Given the description of an element on the screen output the (x, y) to click on. 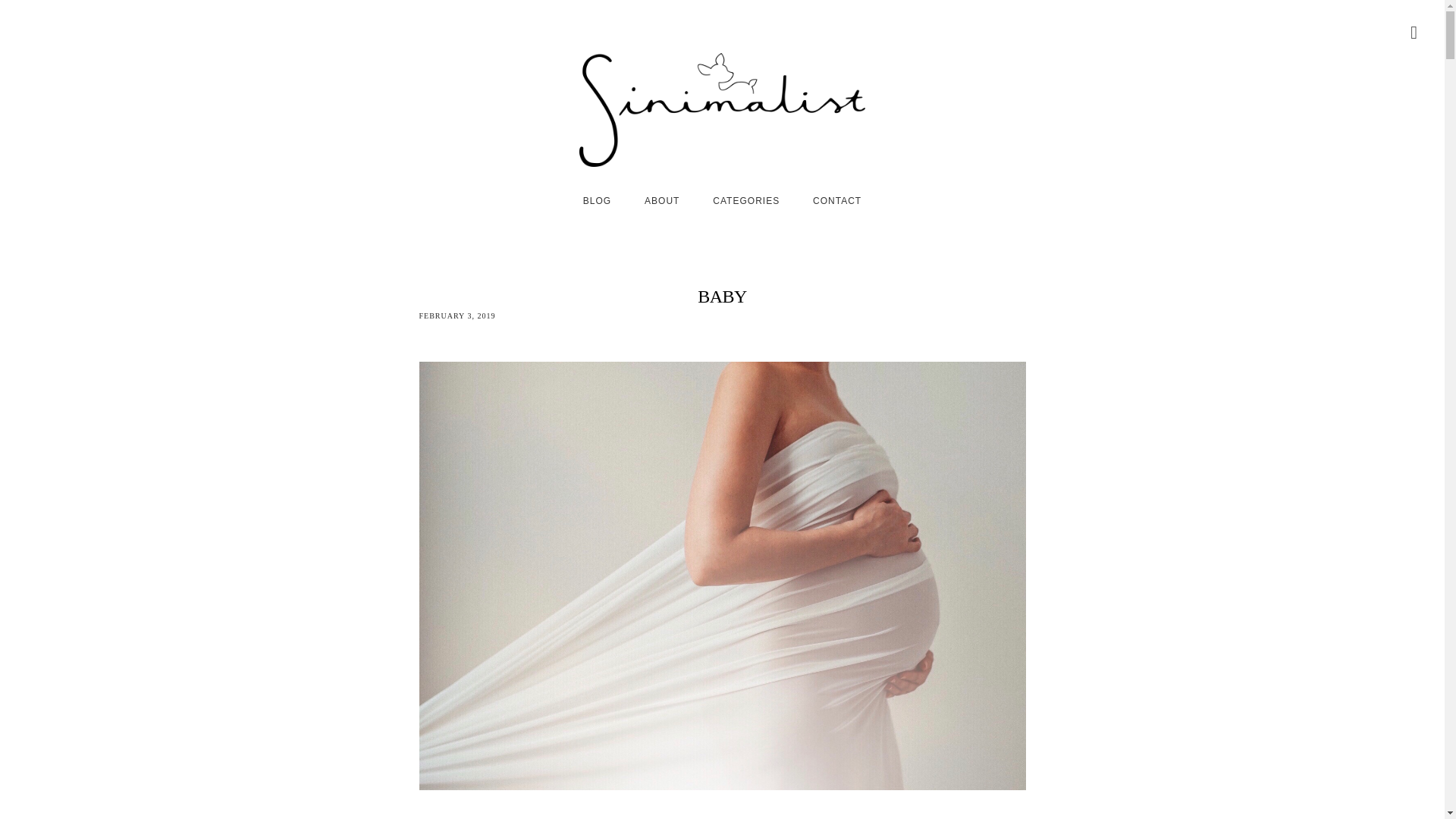
CATEGORIES (745, 200)
BLOG (596, 200)
BABY (721, 296)
CONTACT (836, 200)
ABOUT (661, 200)
SINIMALIST (722, 110)
Search (18, 10)
